Given the description of an element on the screen output the (x, y) to click on. 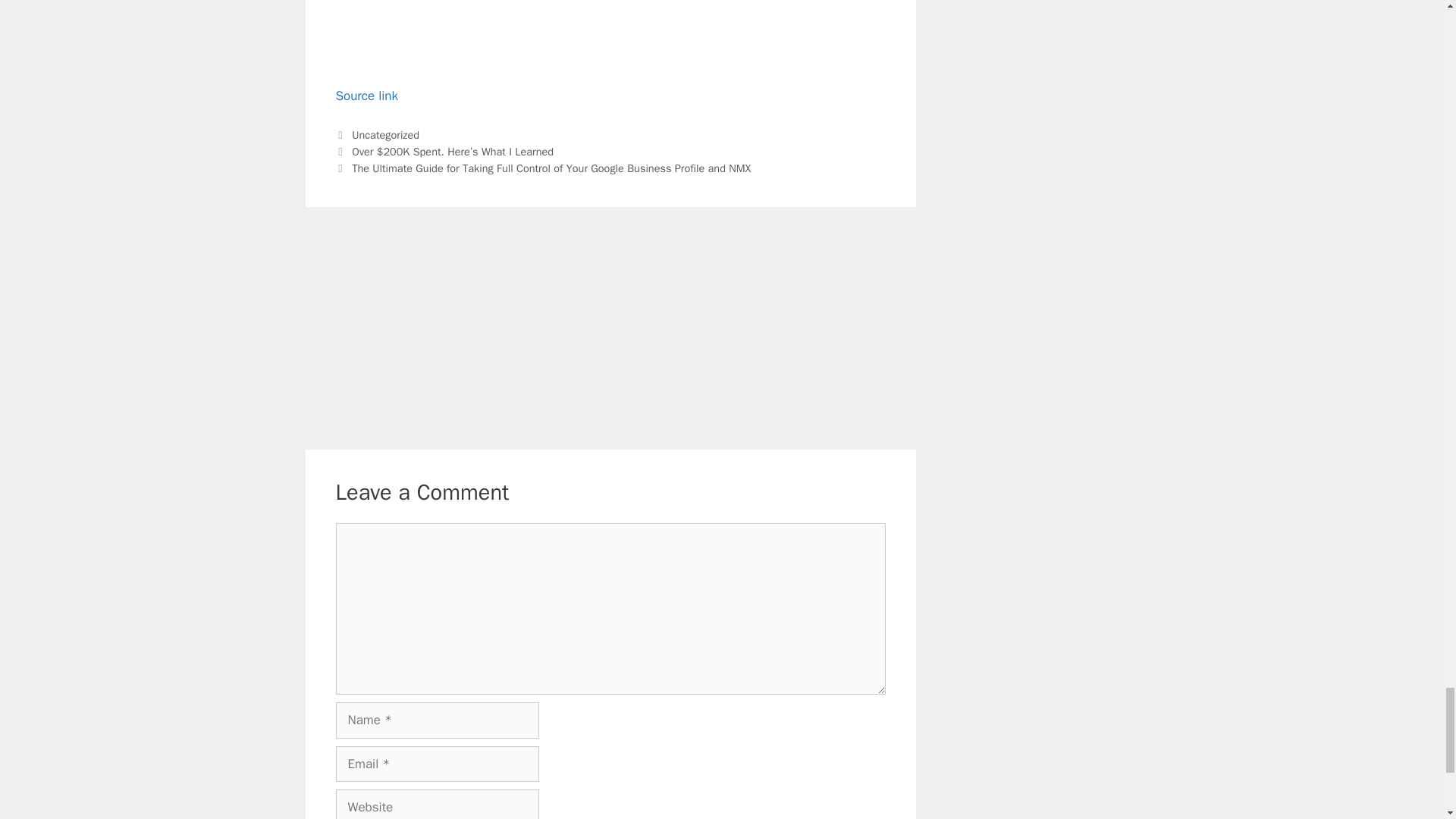
Uncategorized (385, 134)
Source link (365, 95)
